Given the description of an element on the screen output the (x, y) to click on. 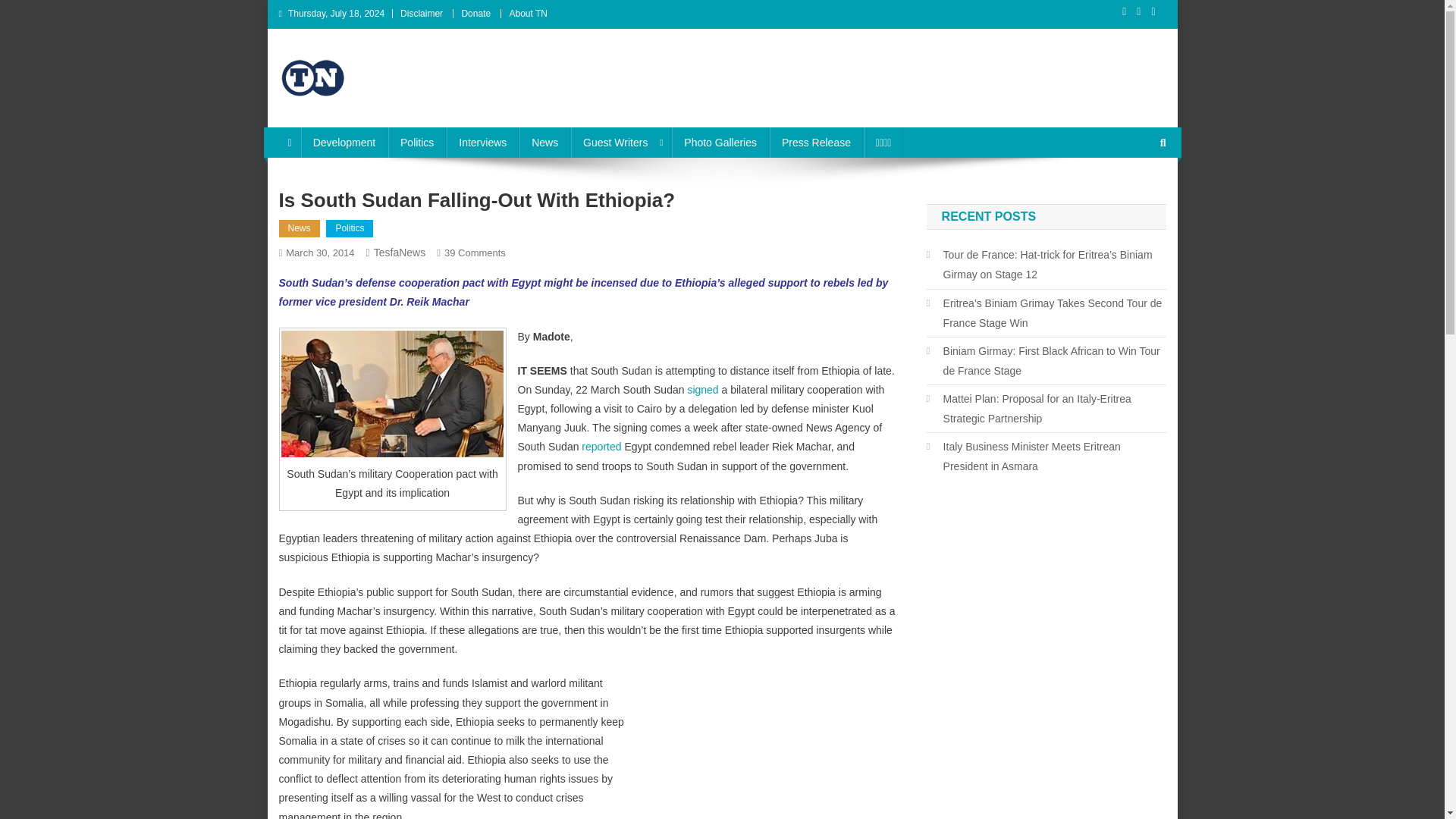
News (299, 229)
Politics (416, 142)
Interviews (474, 252)
reported (482, 142)
Development (602, 446)
Advertisement (344, 142)
About TN (764, 750)
Politics (527, 13)
TesfaNews (349, 229)
Press Release (399, 252)
March 30, 2014 (816, 142)
signed (319, 252)
News (703, 389)
TesfaNews (544, 142)
